Given the description of an element on the screen output the (x, y) to click on. 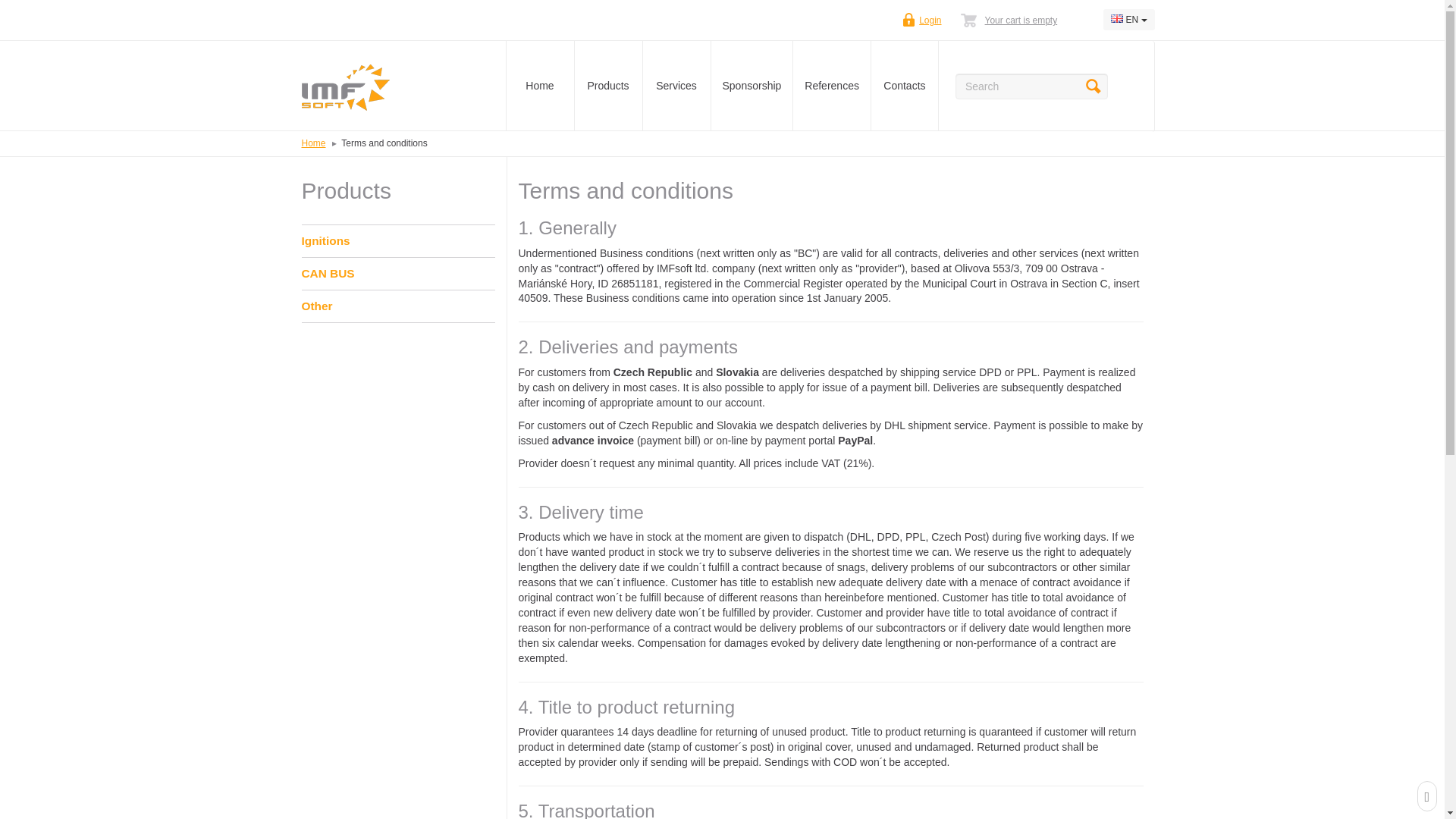
CAN BUS (398, 273)
Home (313, 143)
Login (930, 20)
Ignitions (398, 241)
EN (1128, 19)
Search (1093, 86)
Back to homepage (391, 85)
Your cart is empty (1020, 20)
Other (398, 306)
Sponsorship (752, 85)
